Given the description of an element on the screen output the (x, y) to click on. 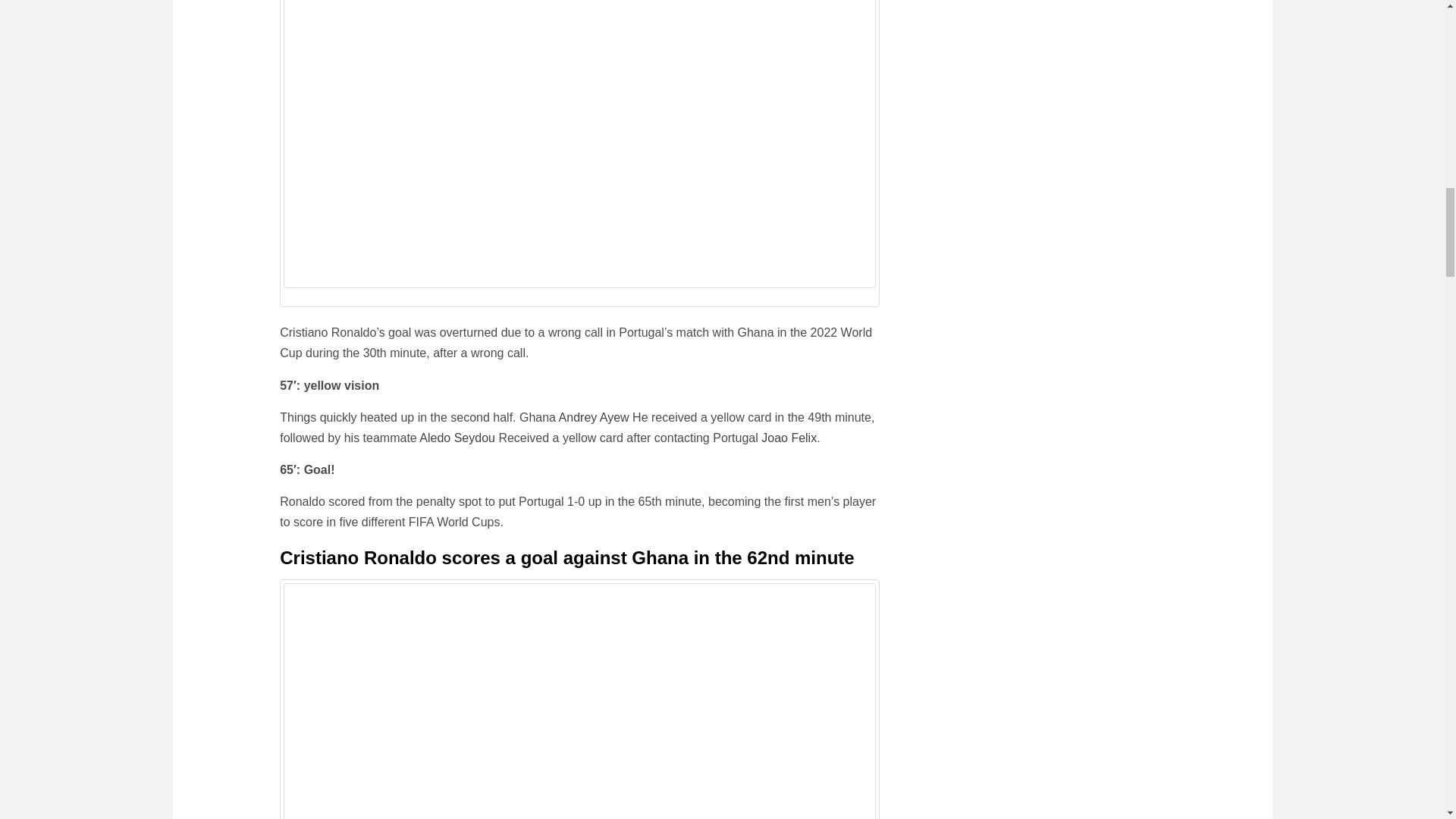
Joao Felix (788, 437)
Andrey Ayew (593, 417)
Aledo Seydou (457, 437)
